Given the description of an element on the screen output the (x, y) to click on. 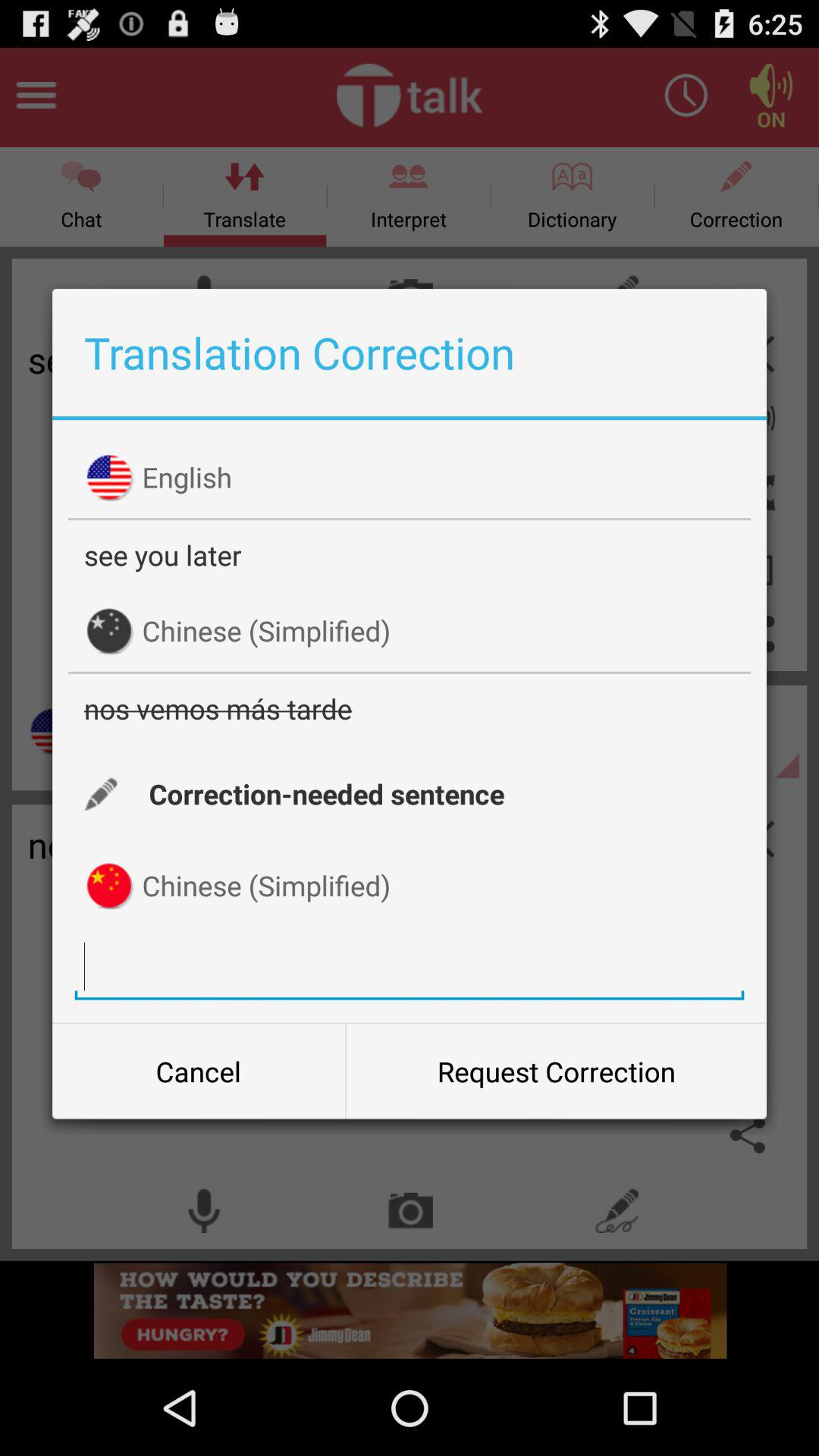
turn on icon to the left of the request correction item (198, 1071)
